Given the description of an element on the screen output the (x, y) to click on. 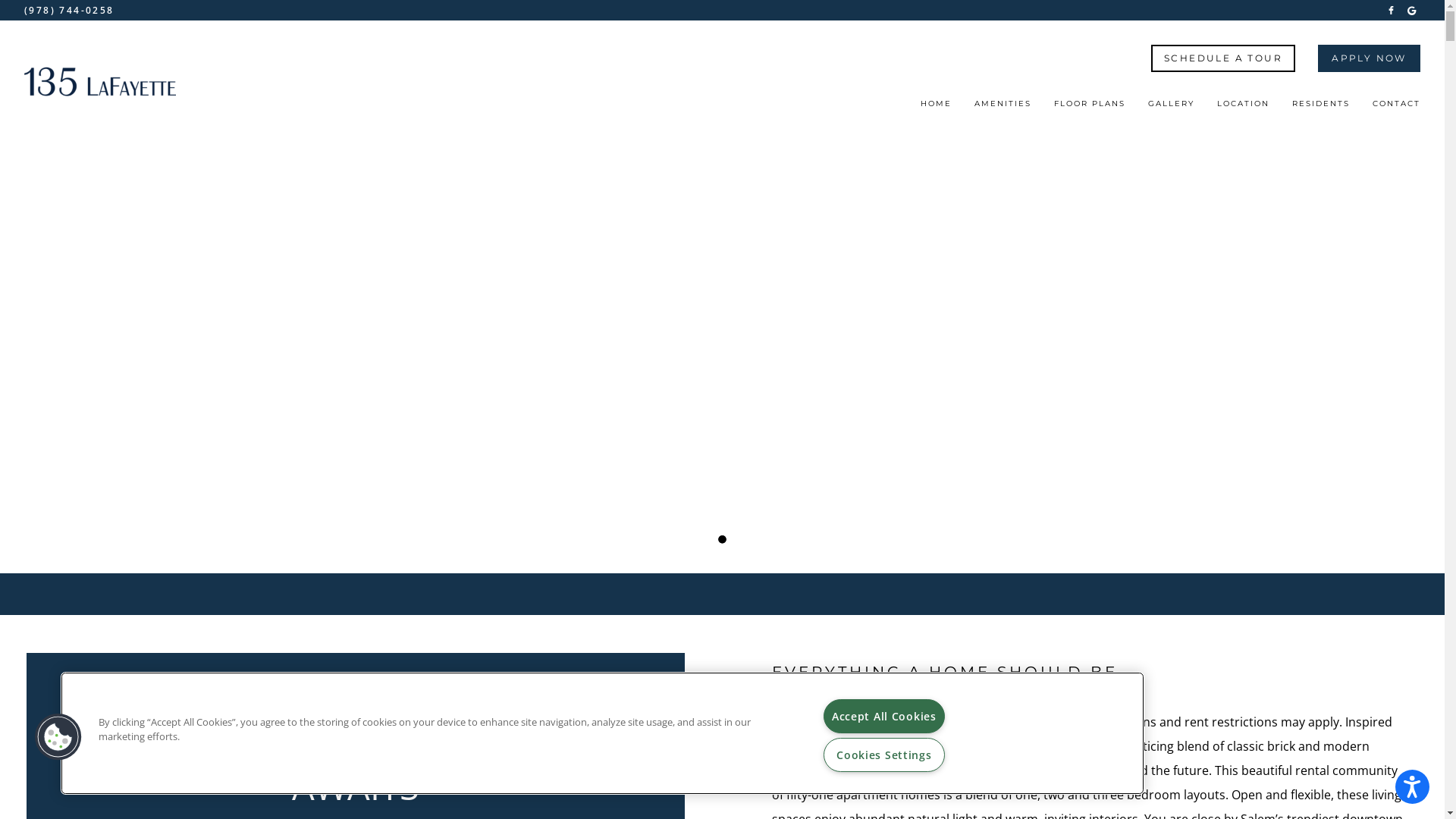
AMENITIES Element type: text (1002, 108)
Cookies Settings Element type: text (883, 754)
FLOOR PLANS Element type: text (1089, 108)
(978) 744-0258 Element type: text (69, 9)
SCHEDULE A TOUR Element type: text (1223, 58)
HOME Element type: text (935, 108)
Home Element type: hover (99, 81)
Cookies Button Element type: text (58, 736)
RESIDENTS Element type: text (1320, 108)
LOCATION Element type: text (1243, 108)
APPLY NOW Element type: text (1368, 58)
GALLERY Element type: text (1171, 108)
CONTACT Element type: text (1396, 108)
Accept All Cookies Element type: text (883, 716)
